Given the description of an element on the screen output the (x, y) to click on. 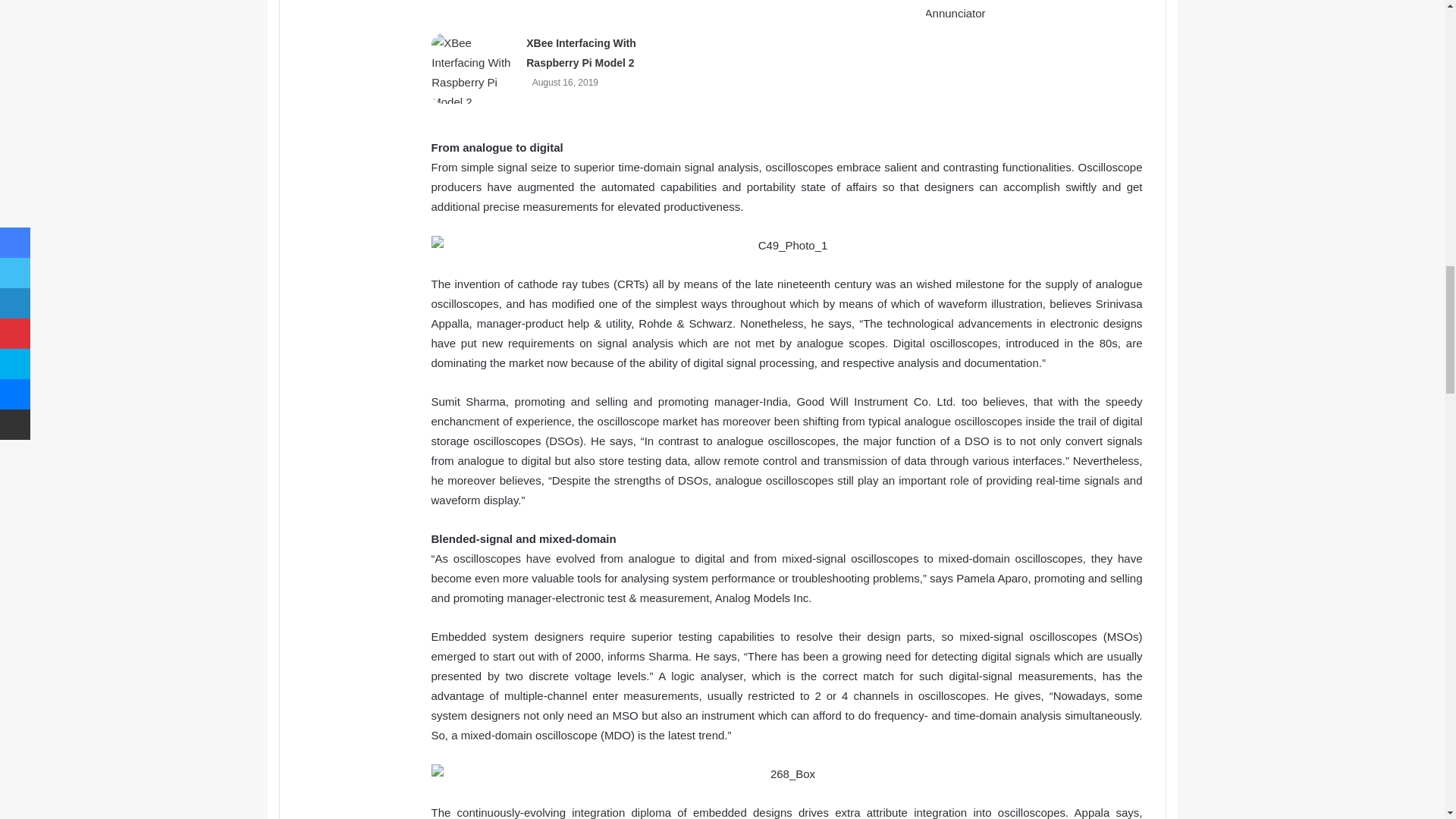
1565037618 XBee Interfacing With Raspberry Pi Model 2 (472, 68)
